Given the description of an element on the screen output the (x, y) to click on. 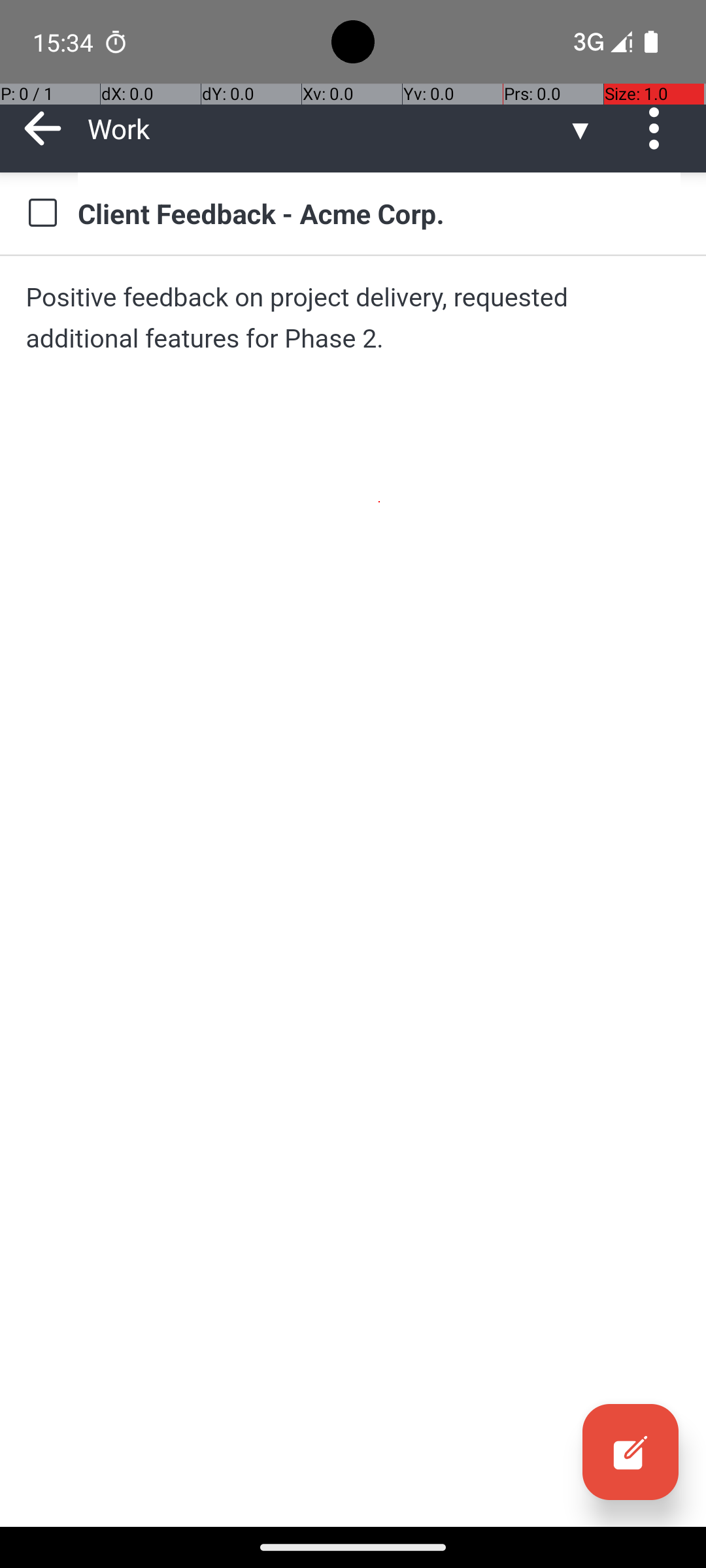
Client Feedback - Acme Corp. Element type: android.widget.EditText (378, 213)
Positive feedback on project delivery, requested additional features for Phase 2. Element type: android.widget.TextView (352, 317)
